Given the description of an element on the screen output the (x, y) to click on. 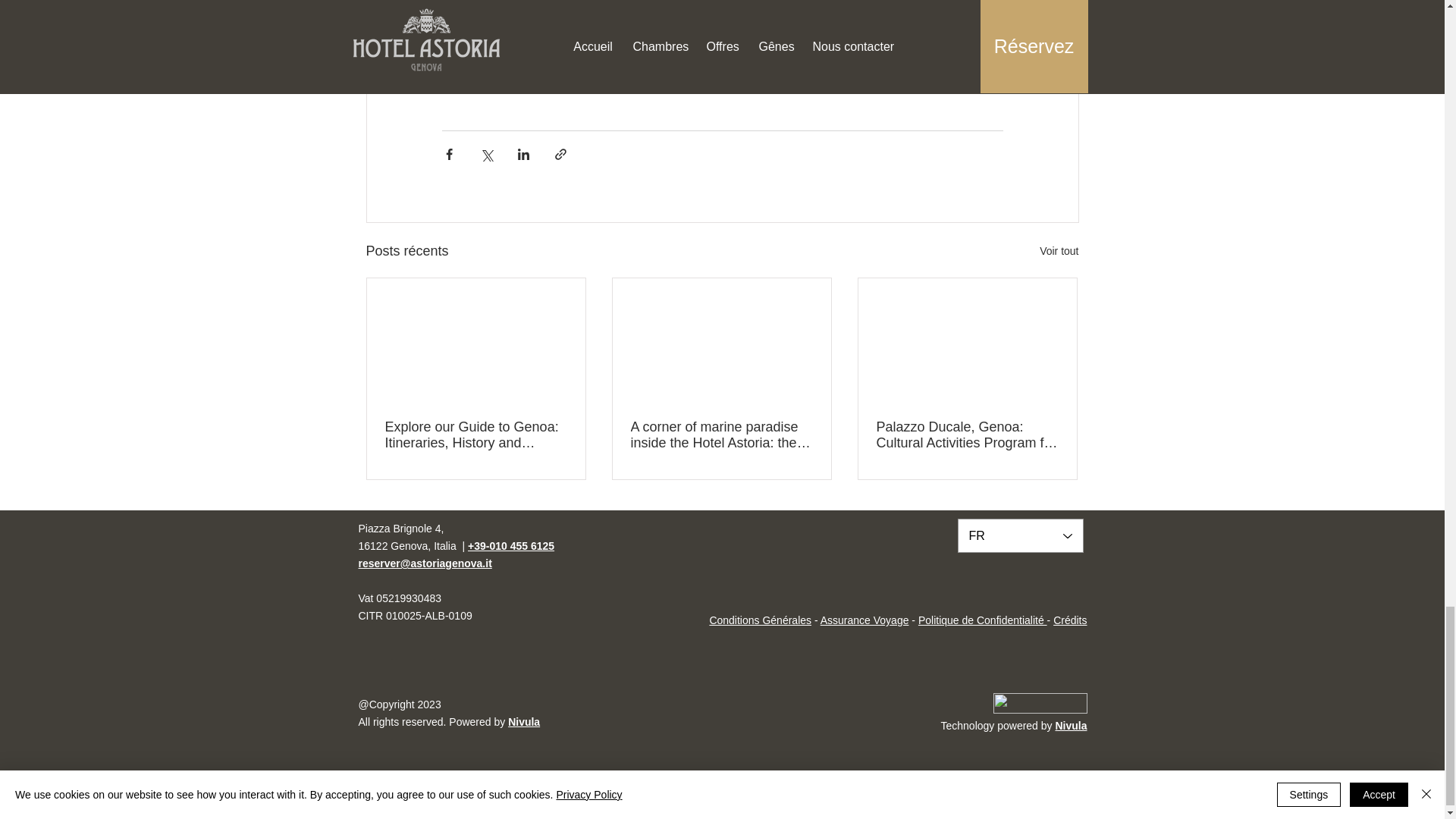
Voir tout (1058, 251)
Assurance Voyage (864, 620)
DIALOGO BIANCO-07.png (1039, 702)
